Given the description of an element on the screen output the (x, y) to click on. 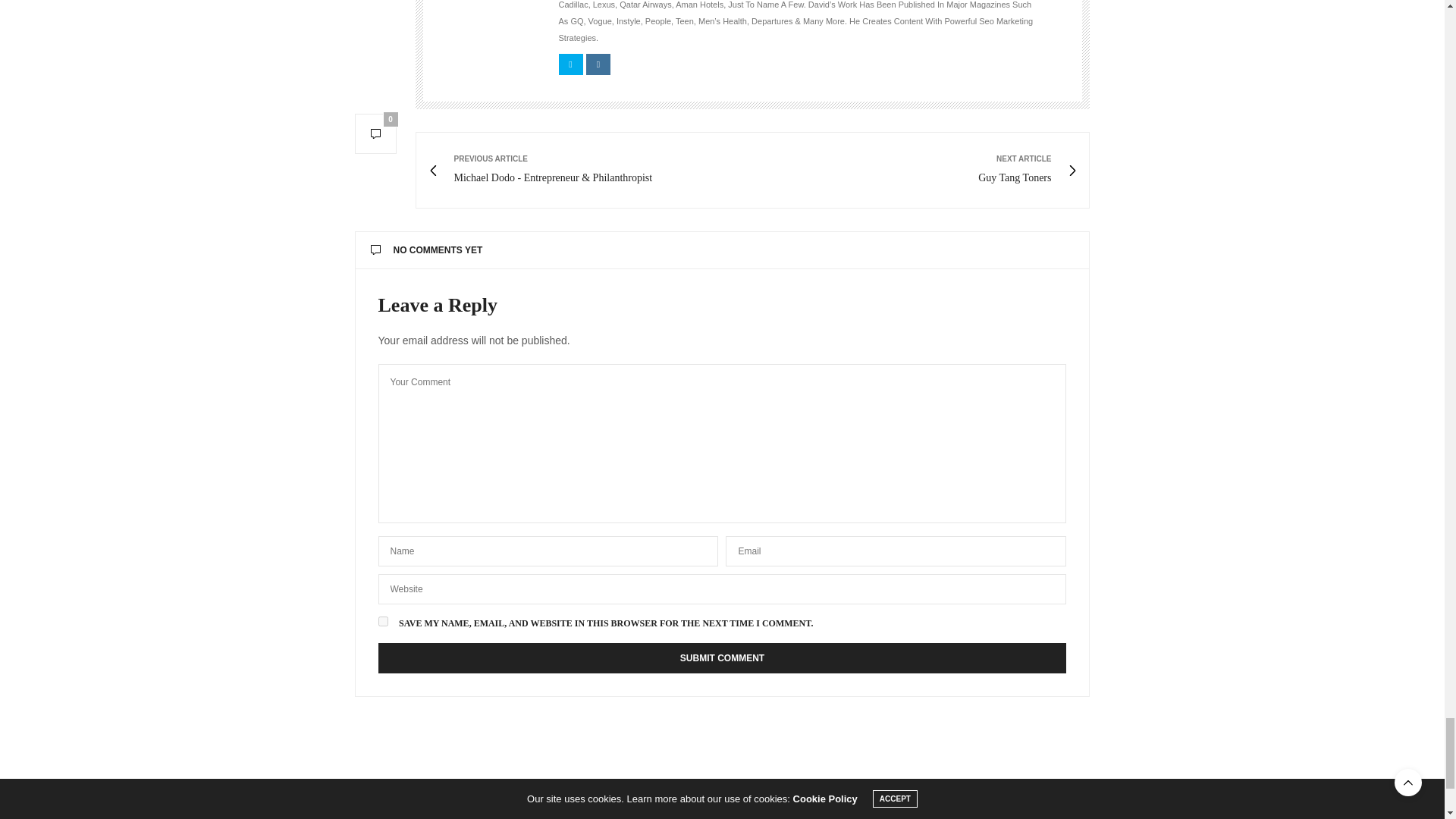
yes (382, 621)
Submit Comment (721, 657)
